Given the description of an element on the screen output the (x, y) to click on. 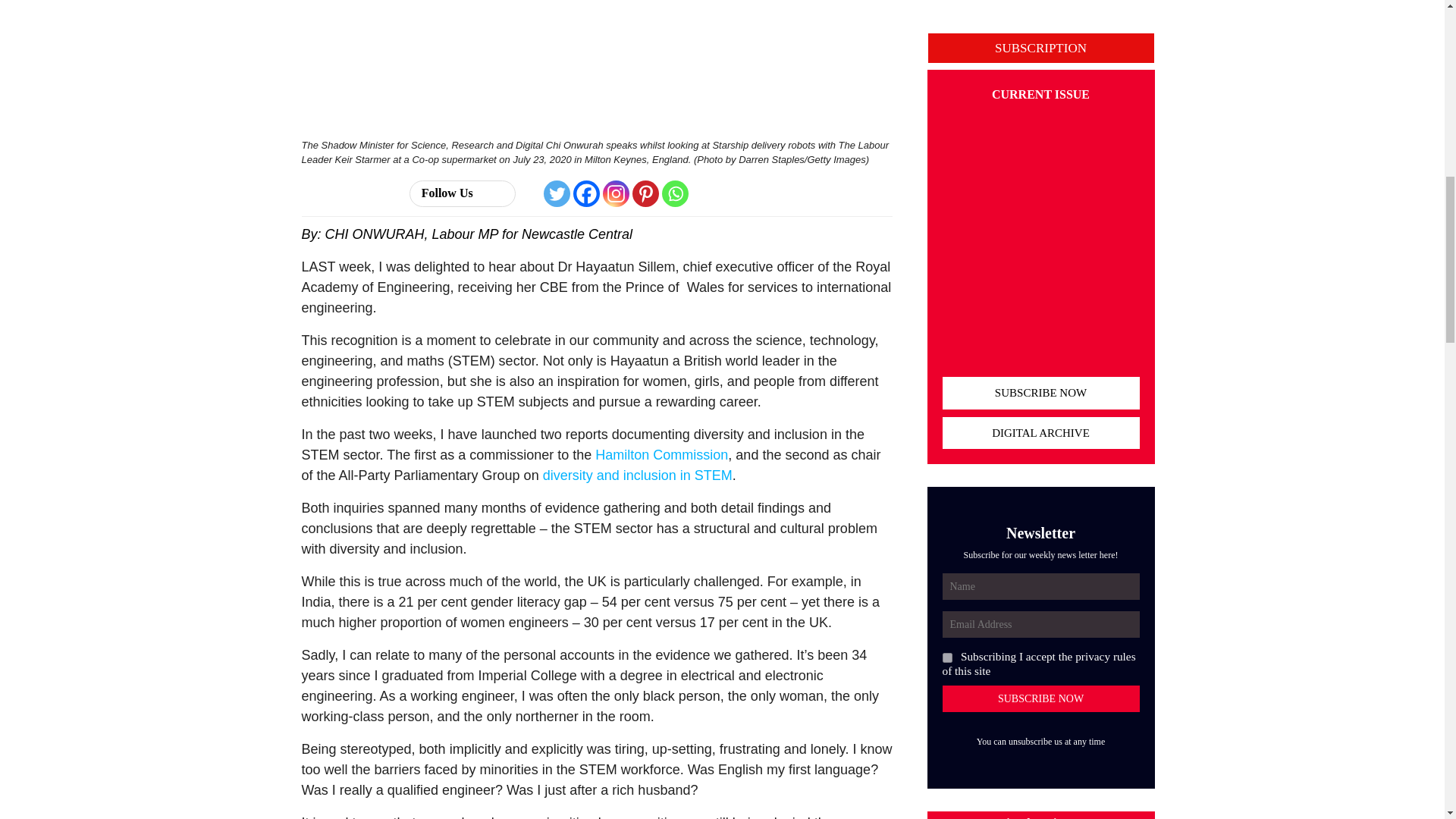
Pinterest (645, 193)
on (947, 657)
Facebook (586, 193)
Subscribe Now (1040, 698)
Whatsapp (675, 193)
Twitter (556, 193)
Instagram (615, 193)
